Given the description of an element on the screen output the (x, y) to click on. 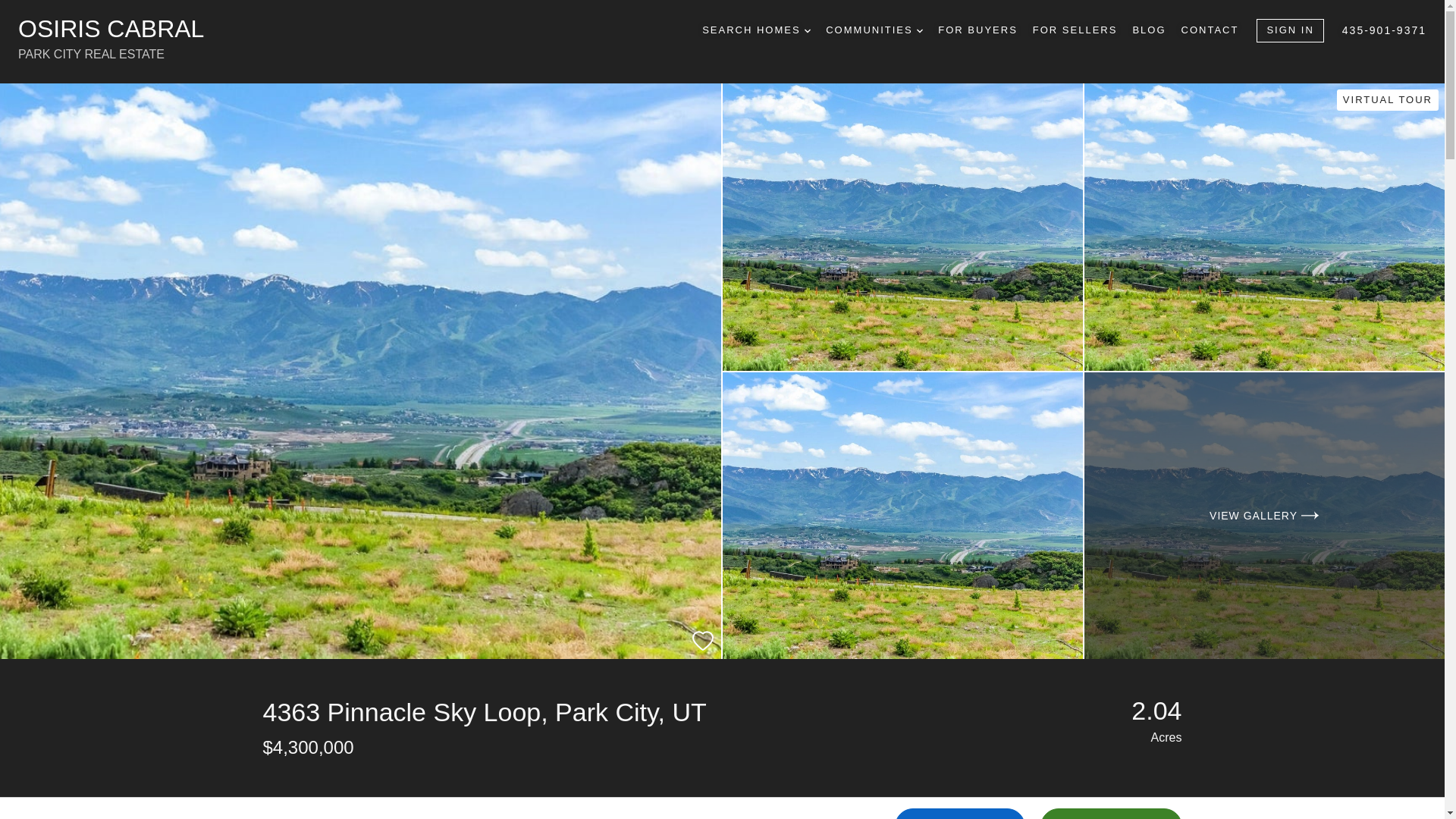
COMMUNITIES DROPDOWN ARROW (874, 30)
FOR BUYERS (977, 30)
BLOG (1149, 30)
OVERVIEW (291, 808)
435-901-9371 (1384, 29)
REQUEST SHOWING (673, 808)
DROPDOWN ARROW (920, 30)
CONTACT (359, 41)
REQUEST INFO (1209, 30)
SEARCH HOMES DROPDOWN ARROW (960, 813)
DROPDOWN ARROW (755, 30)
SIGN IN (807, 30)
FOR SELLERS (1289, 30)
